Given the description of an element on the screen output the (x, y) to click on. 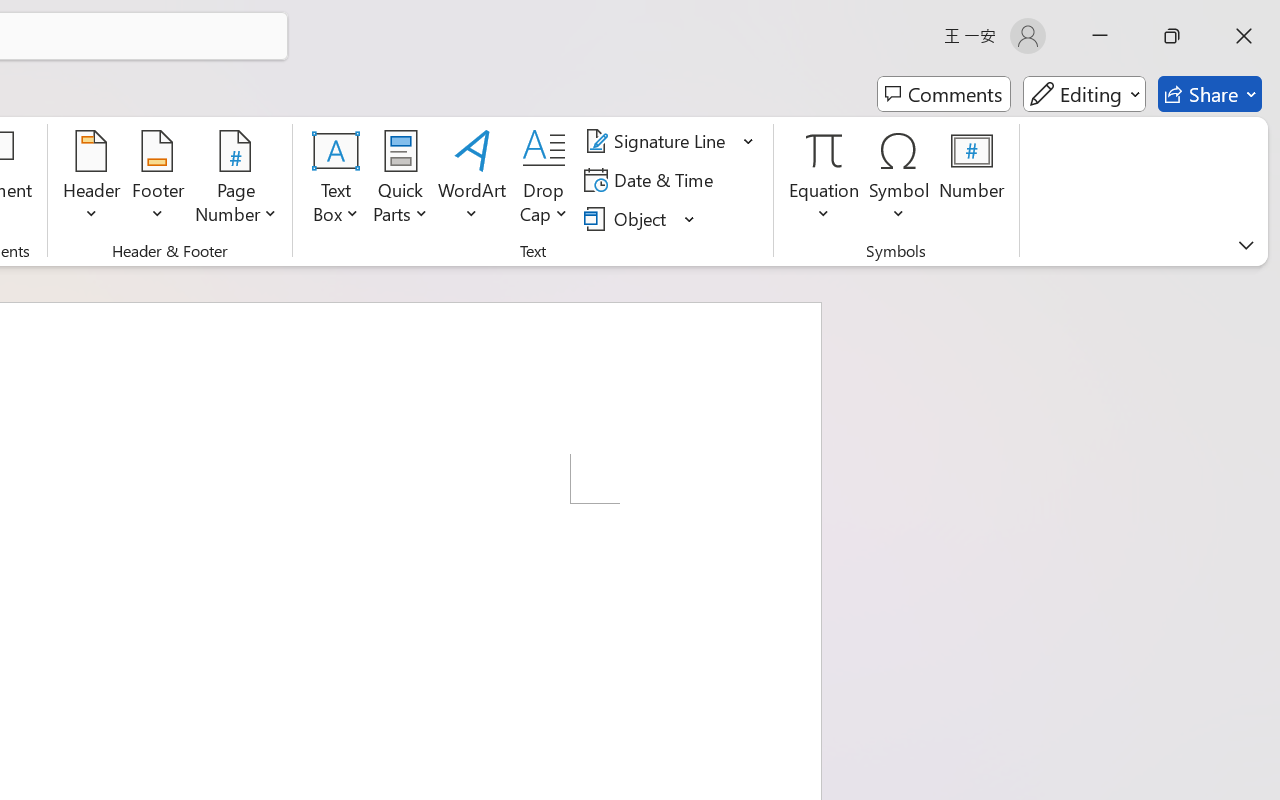
Text Box (335, 179)
Object... (640, 218)
Header (92, 179)
Mode (1083, 94)
Symbol (899, 179)
Equation (823, 150)
Close (1244, 36)
Signature Line (658, 141)
Share (1210, 94)
Footer (157, 179)
Ribbon Display Options (1246, 245)
Comments (943, 94)
Equation (823, 179)
Object... (628, 218)
Quick Parts (400, 179)
